Given the description of an element on the screen output the (x, y) to click on. 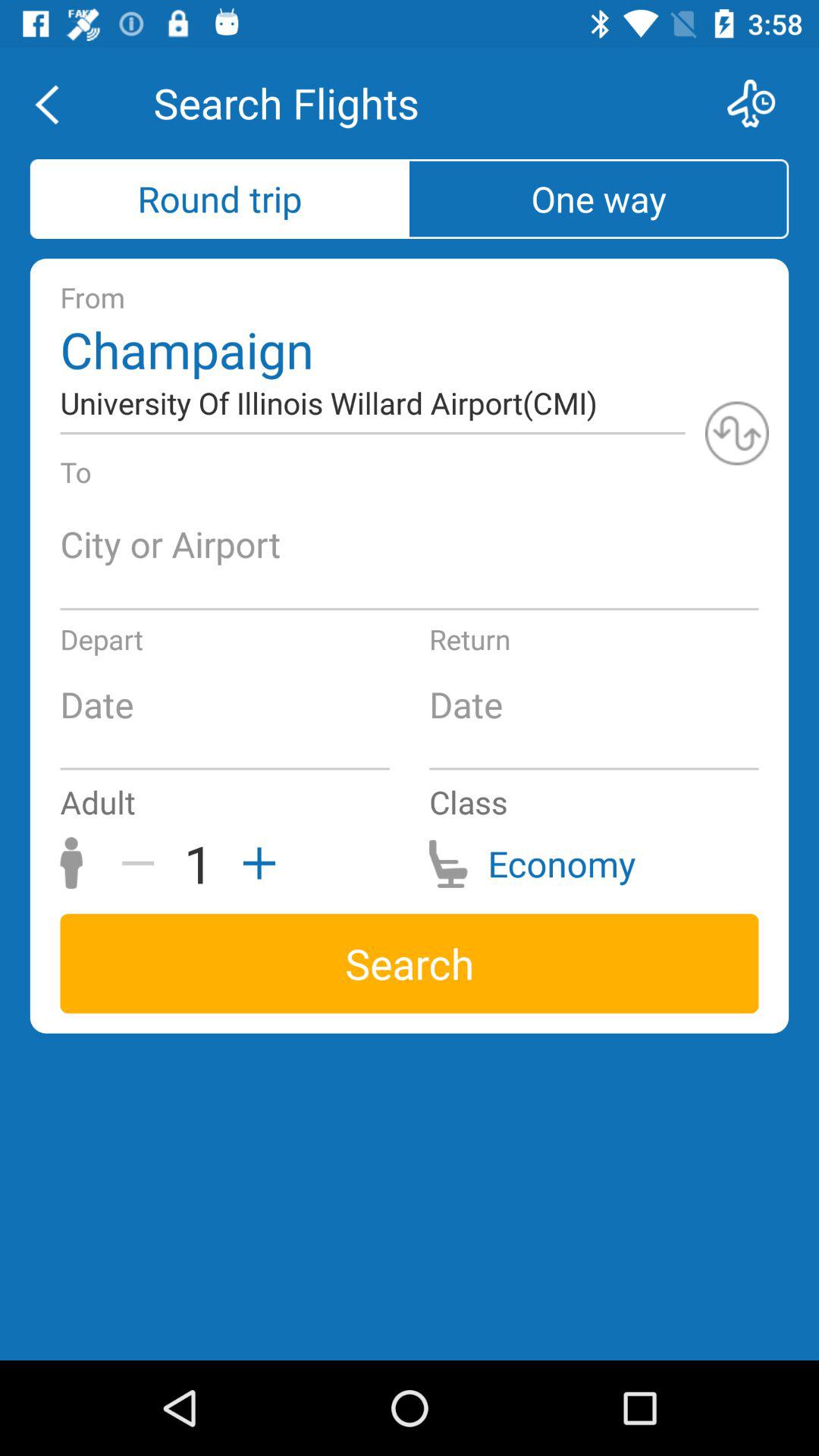
launch the icon above search item (143, 863)
